Given the description of an element on the screen output the (x, y) to click on. 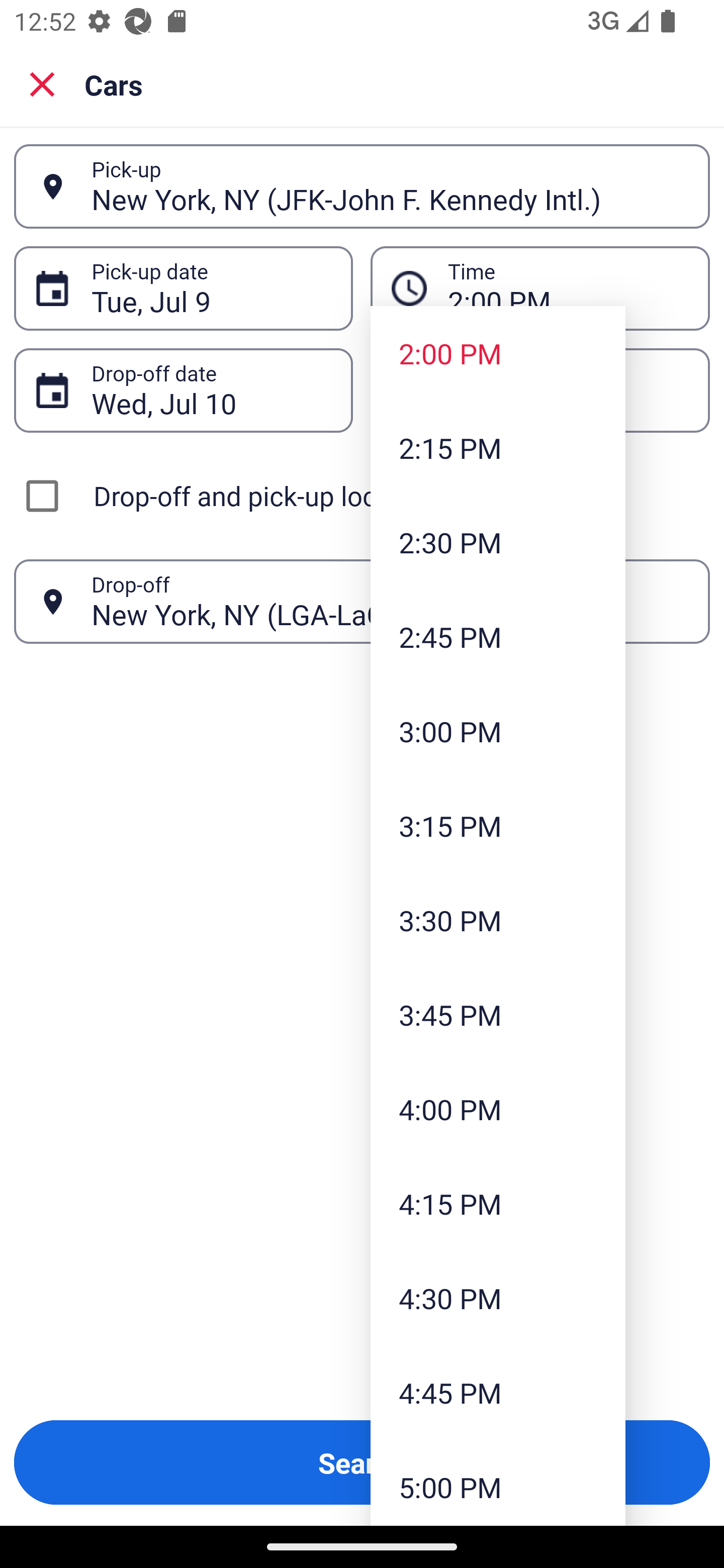
2:00 PM (497, 352)
2:15 PM (497, 447)
2:30 PM (497, 542)
2:45 PM (497, 636)
3:00 PM (497, 730)
3:15 PM (497, 825)
3:30 PM (497, 920)
3:45 PM (497, 1014)
4:00 PM (497, 1109)
4:15 PM (497, 1204)
4:30 PM (497, 1298)
4:45 PM (497, 1392)
5:00 PM (497, 1482)
